Given the description of an element on the screen output the (x, y) to click on. 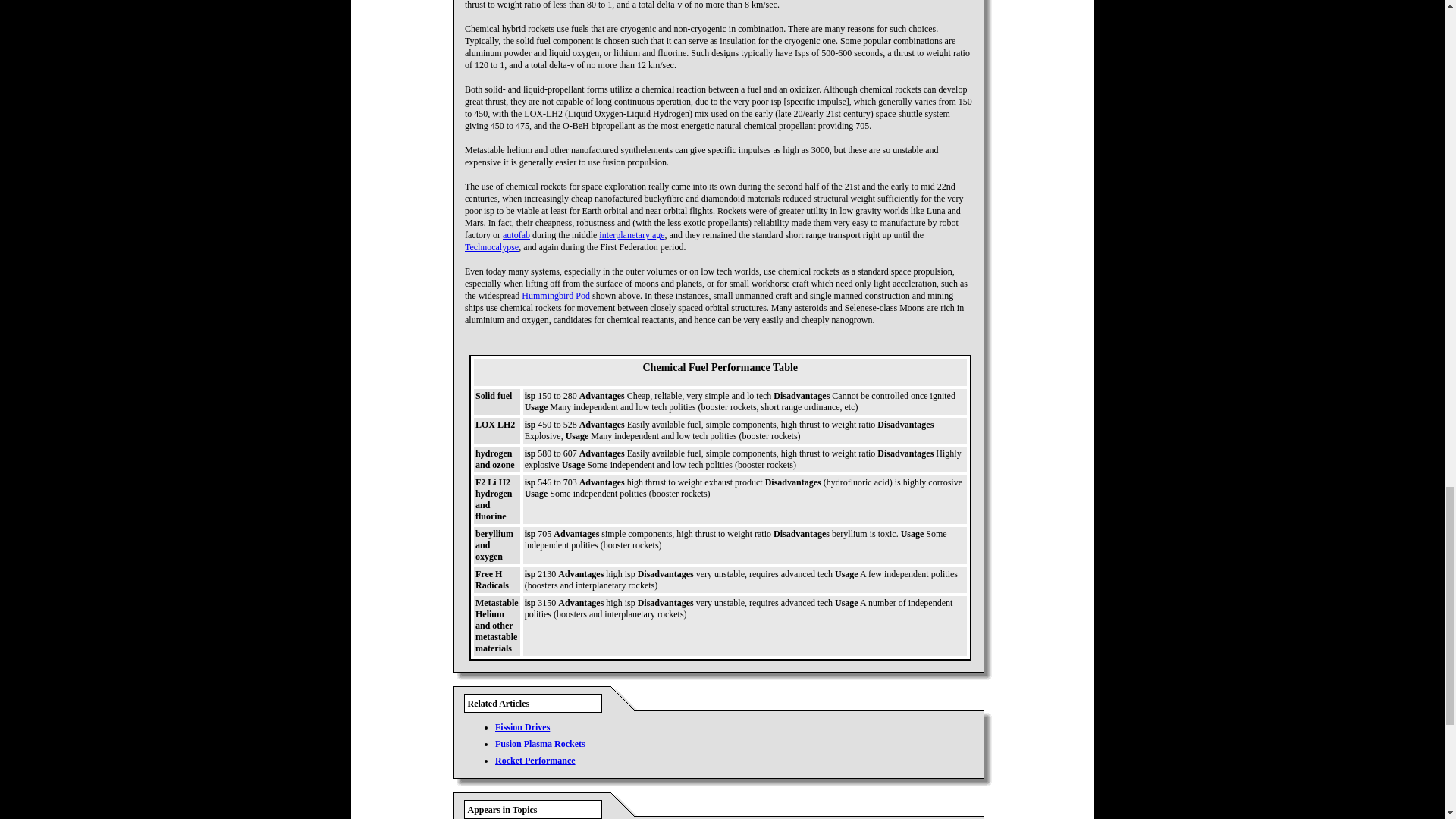
interplanetary age (630, 235)
autofab (515, 235)
Fission Drives (522, 726)
Hummingbird Pod (555, 295)
Fusion Plasma Rockets (540, 743)
Rocket Performance (535, 760)
Technocalypse (491, 246)
